Given the description of an element on the screen output the (x, y) to click on. 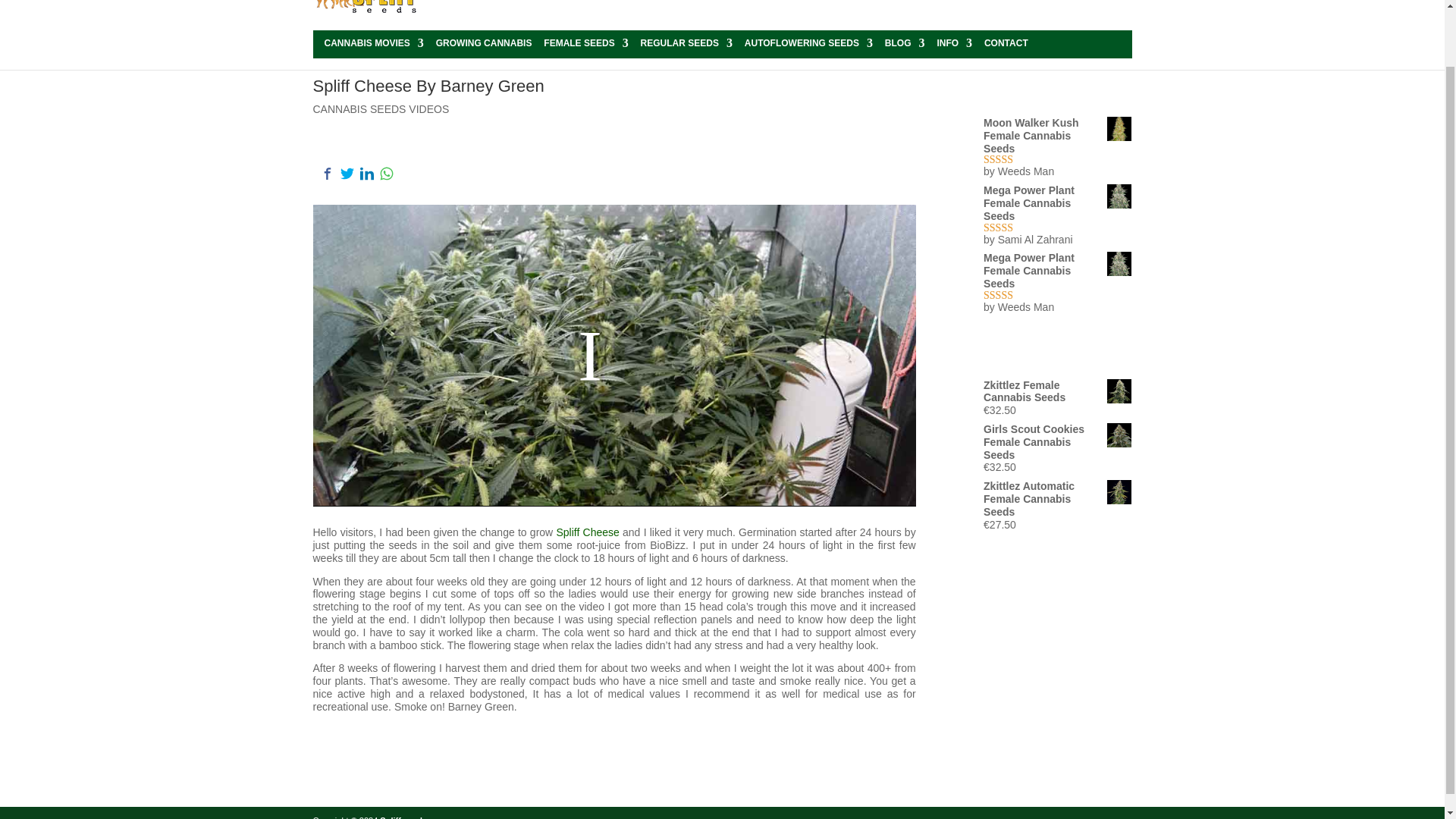
GROWING CANNABIS (483, 44)
CANNABIS MOVIES (373, 44)
Tweet (346, 173)
Share on Linkedin (365, 173)
FEMALE SEEDS (585, 44)
Share on WhatsApp (385, 173)
Share on Facebook (326, 173)
